Given the description of an element on the screen output the (x, y) to click on. 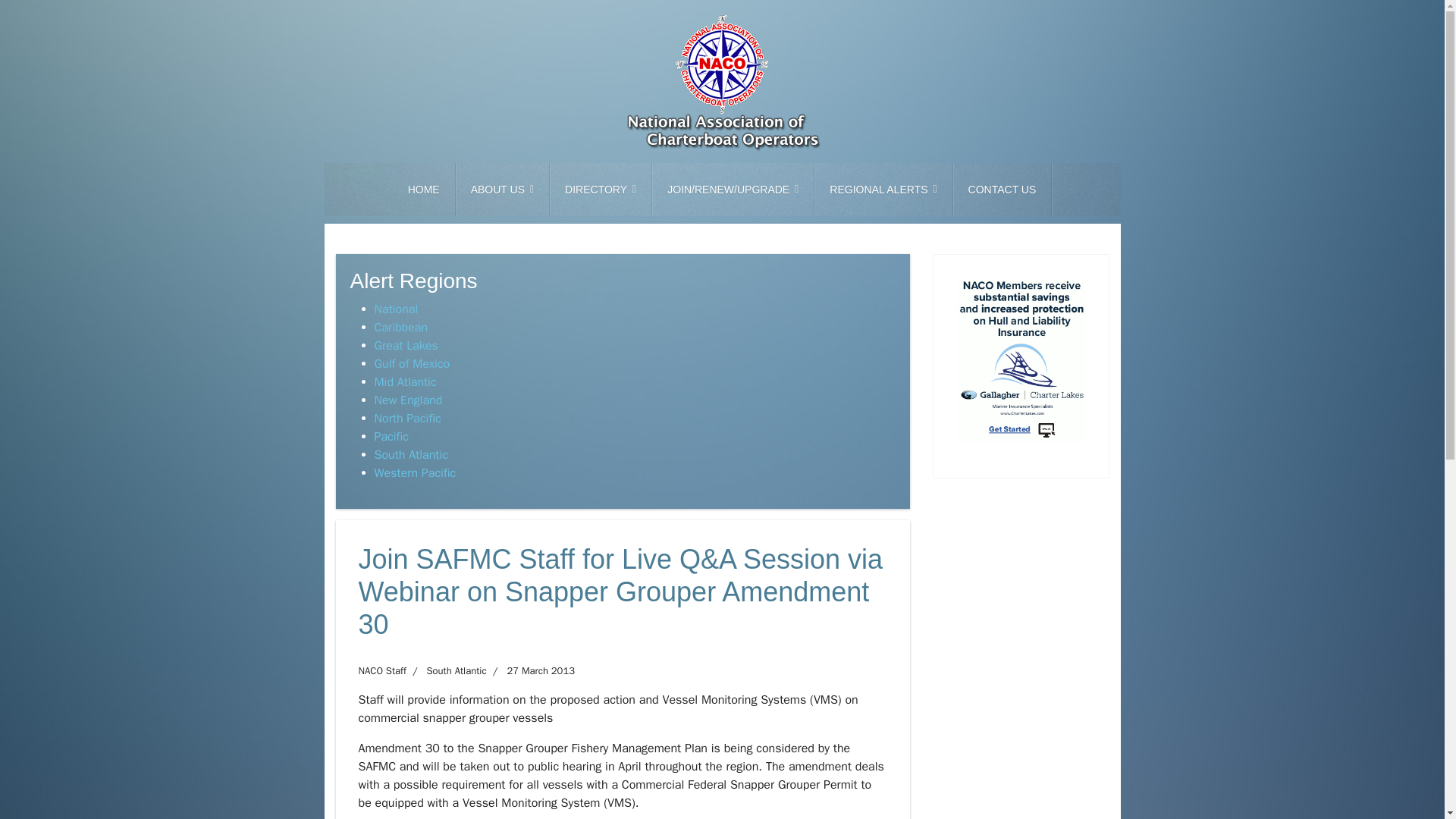
Gulf of Mexico Regional News Alerts (411, 363)
HOME (424, 189)
South Atlantic Regional News Alerts (411, 454)
New England Regional News Alerts (408, 400)
Western Pacific Regional News Alerts (415, 473)
Mid Atlantic Regional News Alerts (405, 381)
National News Alerts (396, 309)
Caribbean Regional News Alerts (401, 327)
Written by: NACO Staff (382, 670)
Great Lakes Regional News Alerts (406, 345)
Category: South Atlantic (446, 670)
DIRECTORY (601, 189)
North Pacific Regional News Alerts (407, 418)
Pacific Regional News Alerts (391, 436)
Published: 27 March 2013 (530, 670)
